Given the description of an element on the screen output the (x, y) to click on. 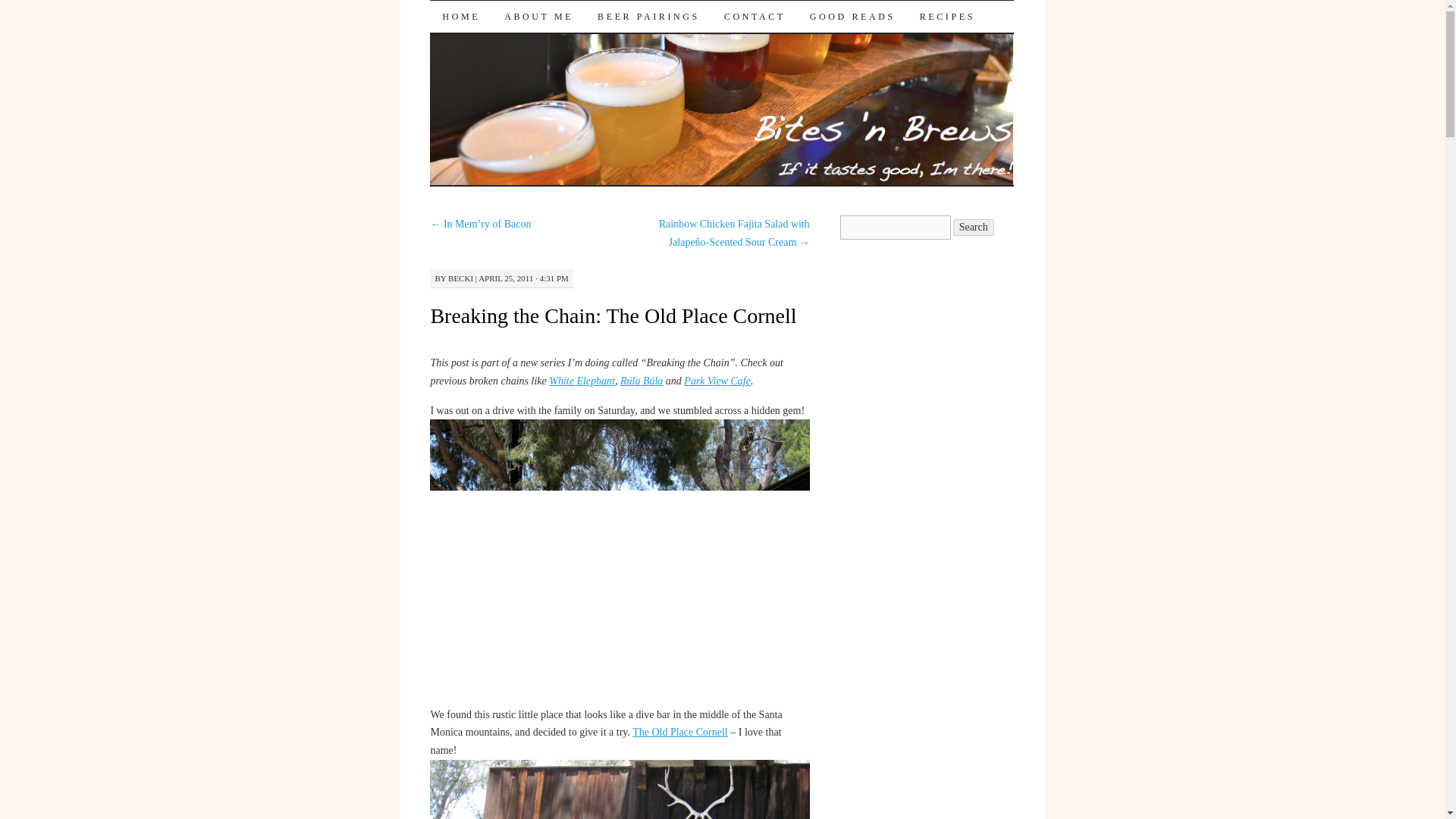
AM2 (619, 789)
GOOD READS (852, 16)
BECKI (460, 277)
AM1 (619, 561)
Bites 'n Brews (521, 26)
RECIPES (947, 16)
HOME (460, 16)
White Elephant (581, 380)
The Old Place Cornell (679, 731)
Bites 'n Brews (521, 26)
